Given the description of an element on the screen output the (x, y) to click on. 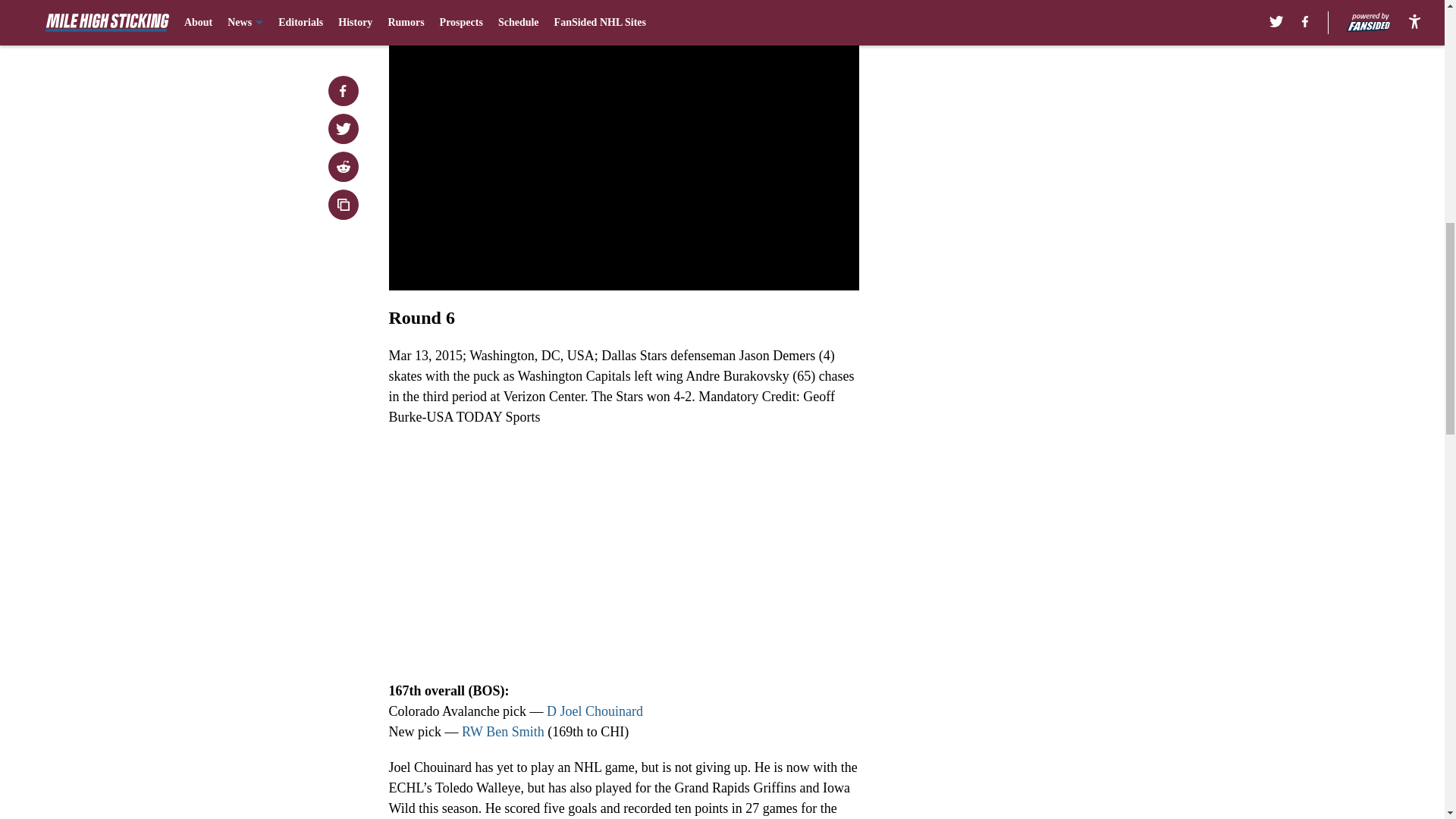
D Joel Chouinard (595, 711)
Prev (433, 5)
RW Ben Smith (502, 731)
Next (813, 5)
